Given the description of an element on the screen output the (x, y) to click on. 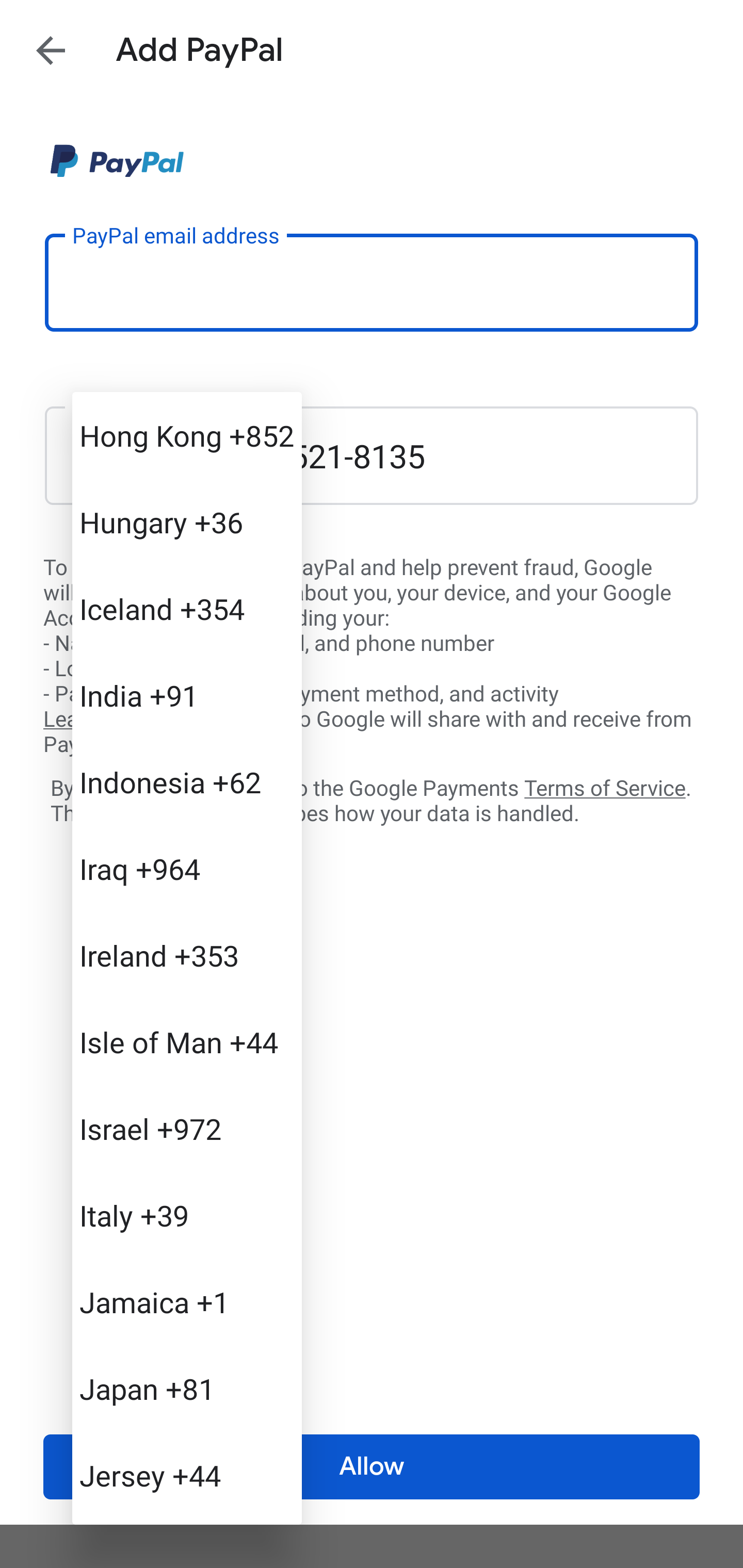
Hong Kong +852 (186, 435)
Hungary +36 (186, 522)
Iceland +354 (186, 609)
India +91 (186, 695)
Indonesia +62 (186, 781)
Iraq +964 (186, 868)
Ireland +353 (186, 955)
Isle of Man +44 (186, 1041)
Israel +972 (186, 1128)
Italy +39 (186, 1215)
Jamaica +1 (186, 1302)
Japan +81 (186, 1388)
Jersey +44 (186, 1474)
